Given the description of an element on the screen output the (x, y) to click on. 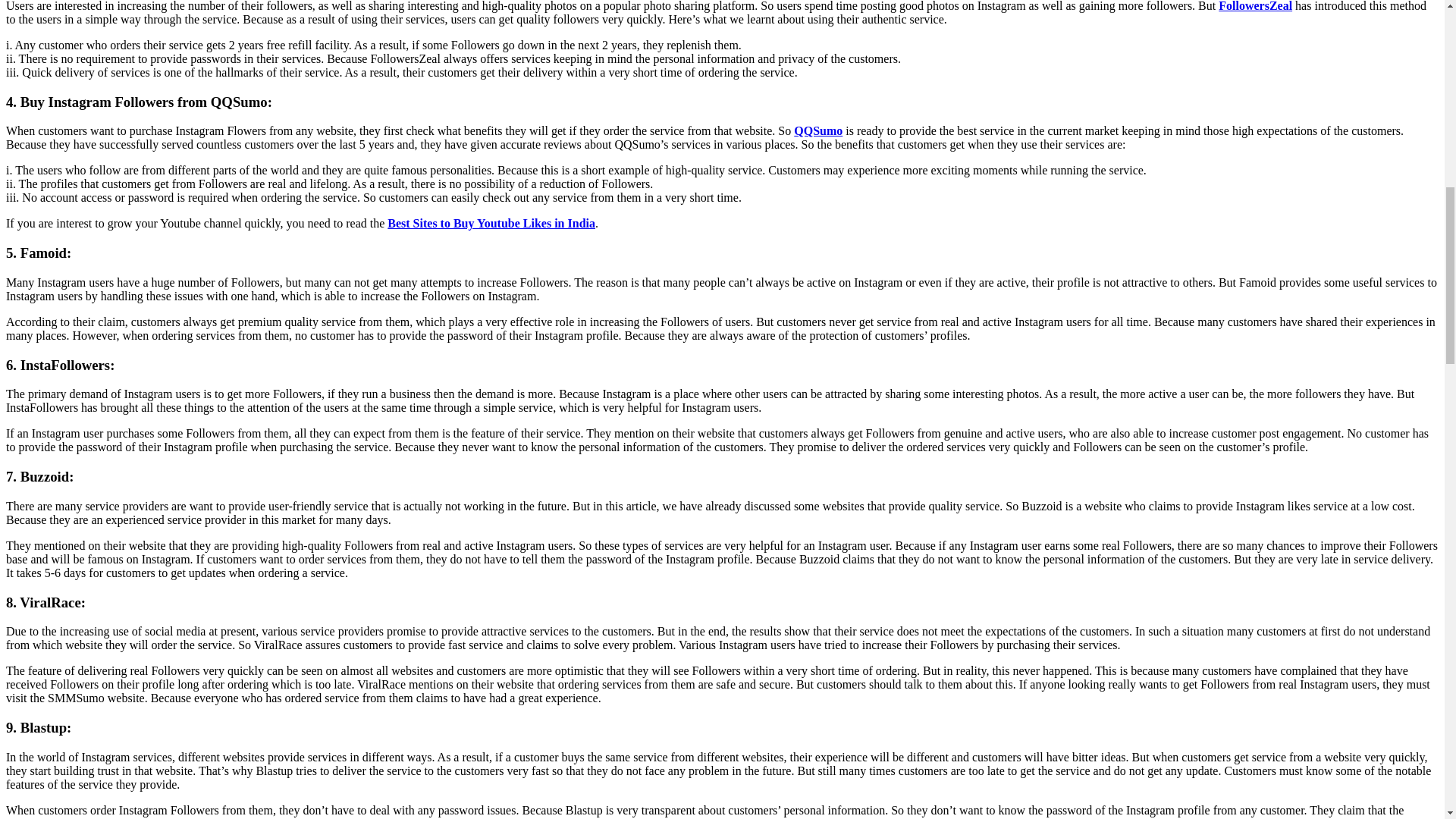
FollowersZeal (1255, 6)
Best Sites to Buy Youtube Likes in India (491, 223)
QQSumo (818, 130)
